Given the description of an element on the screen output the (x, y) to click on. 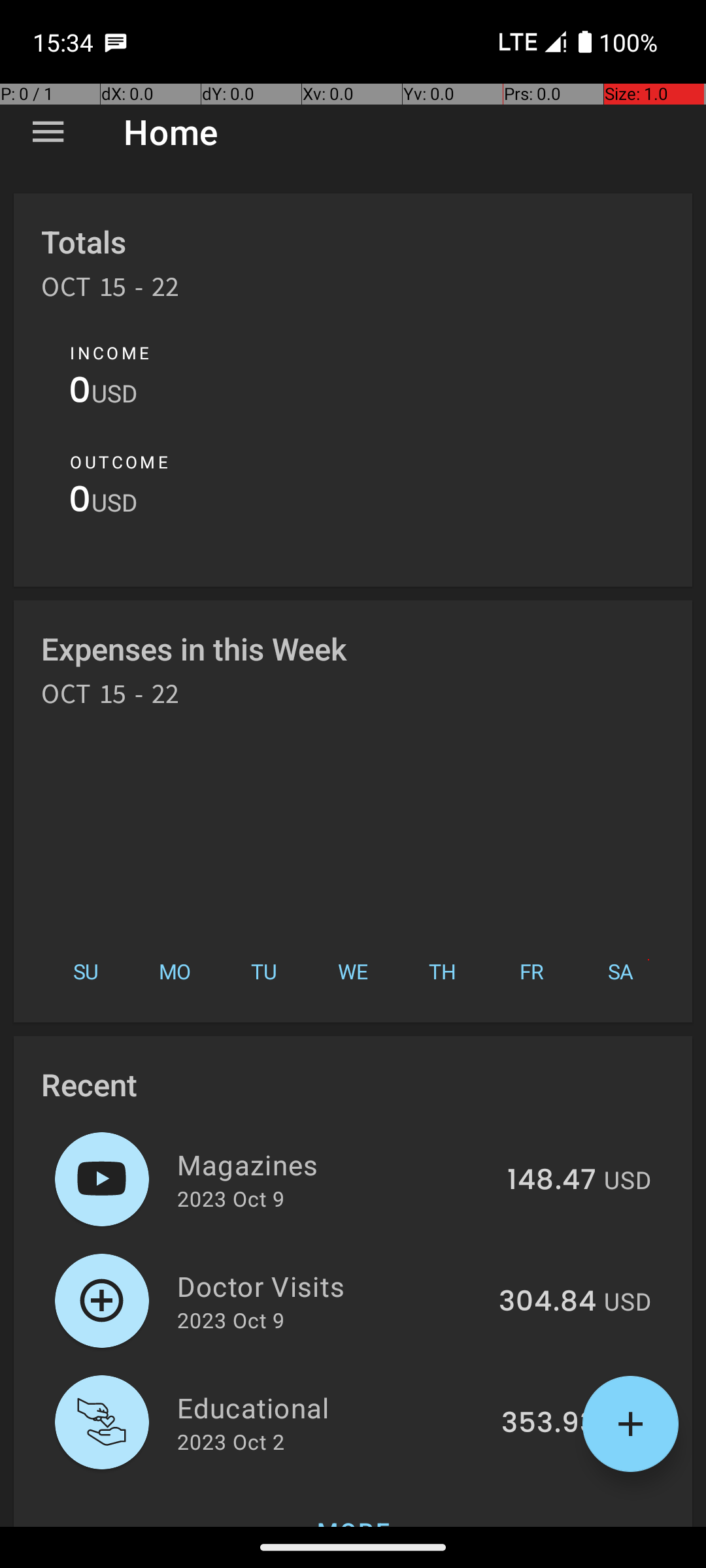
Magazines Element type: android.widget.TextView (334, 1164)
148.47 Element type: android.widget.TextView (551, 1180)
304.84 Element type: android.widget.TextView (547, 1301)
Educational Element type: android.widget.TextView (331, 1407)
2023 Oct 2 Element type: android.widget.TextView (230, 1441)
353.93 Element type: android.widget.TextView (548, 1423)
